Given the description of an element on the screen output the (x, y) to click on. 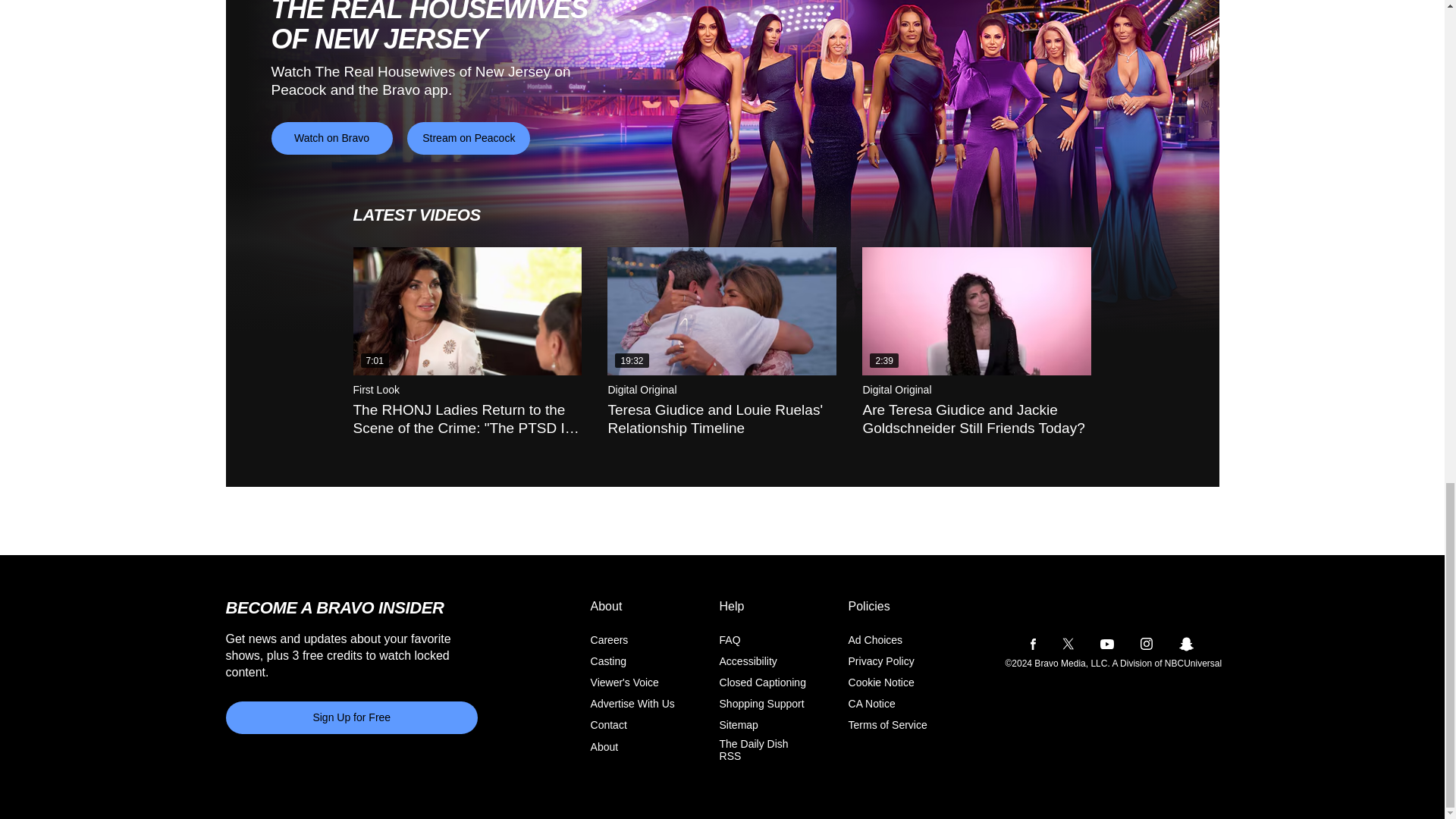
Advertise With Us (633, 704)
Teresa Giudice and Louie Ruelas' Relationship Timeline (721, 311)
